Given the description of an element on the screen output the (x, y) to click on. 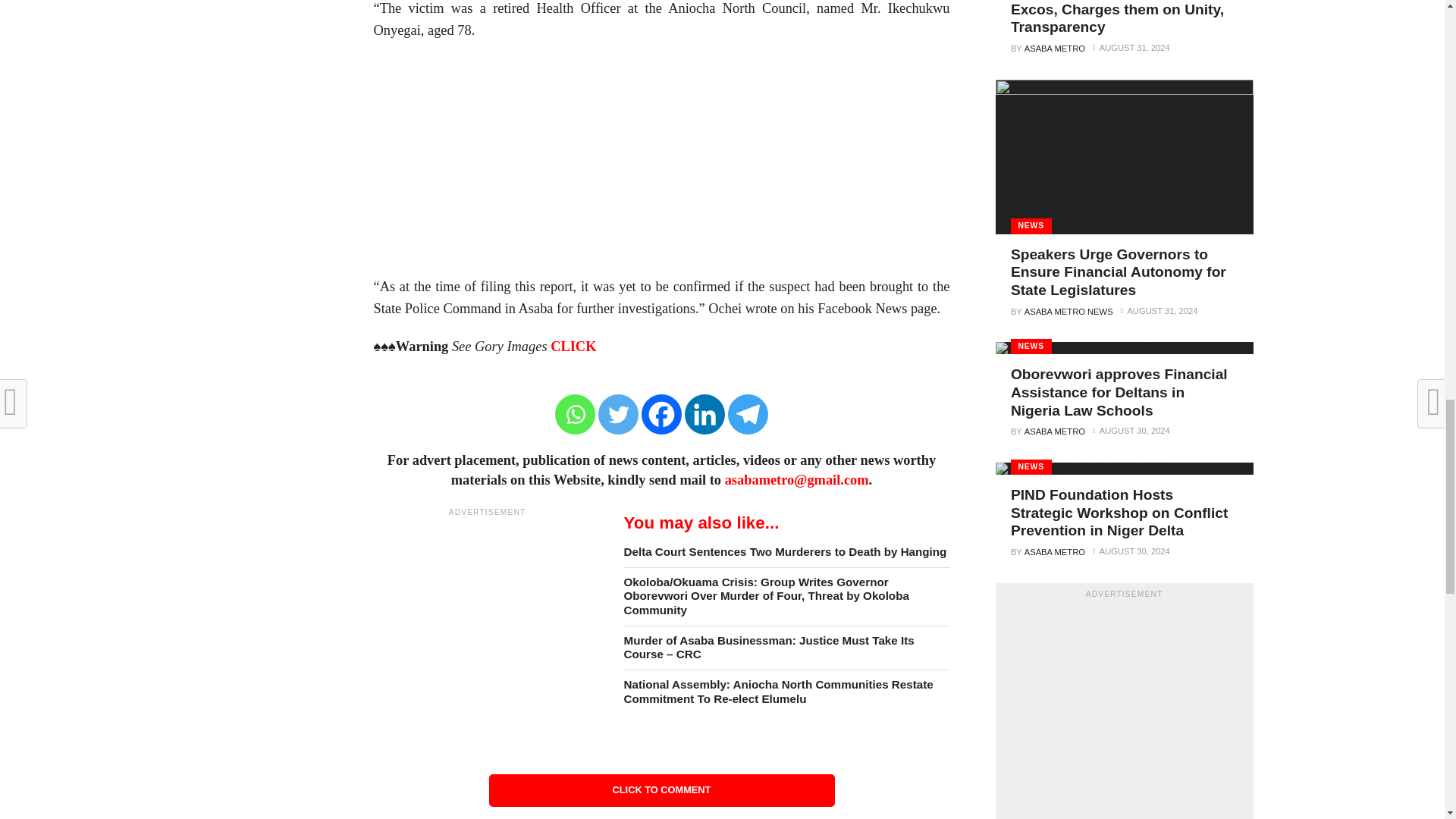
Facebook (661, 413)
Twitter (618, 413)
Whatsapp (574, 413)
